Given the description of an element on the screen output the (x, y) to click on. 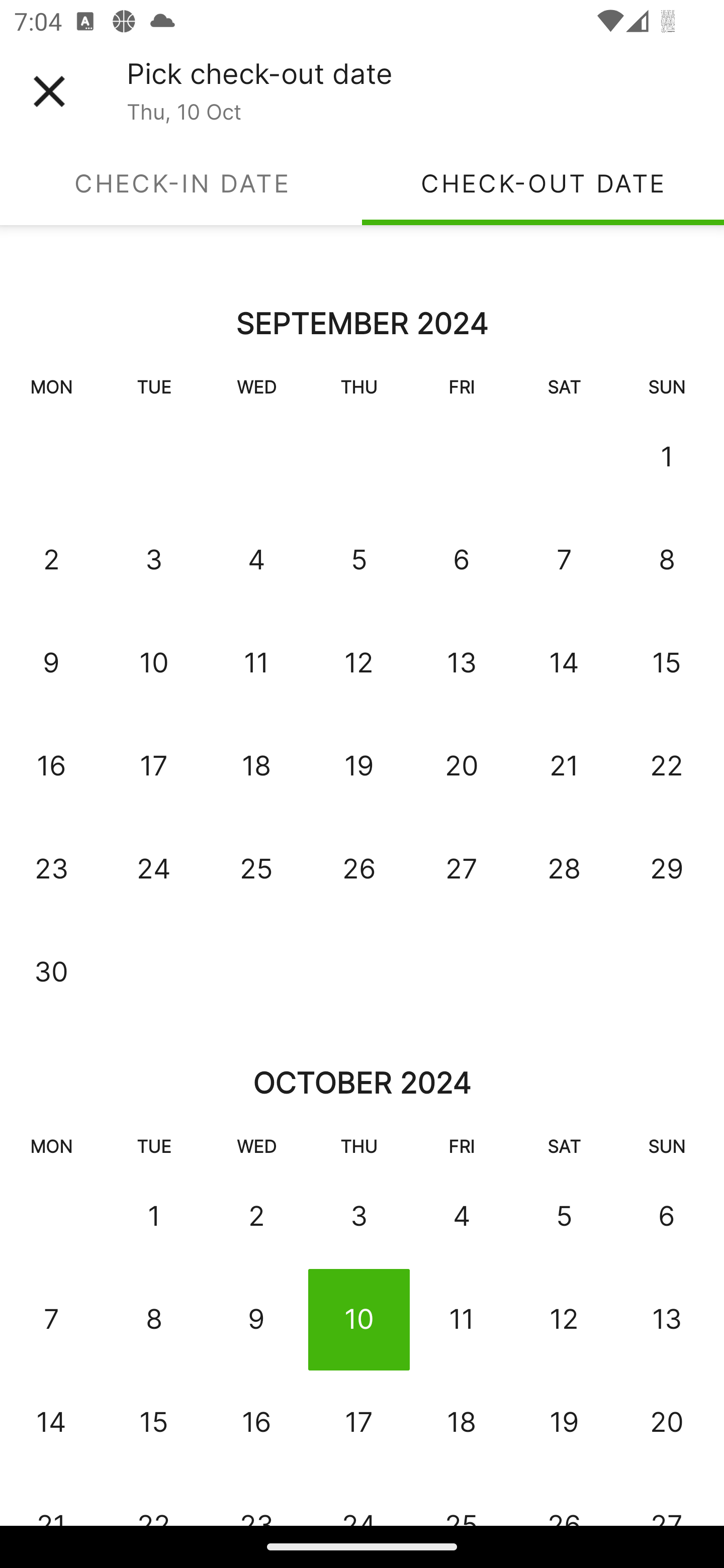
Check-in Date CHECK-IN DATE (181, 183)
